Given the description of an element on the screen output the (x, y) to click on. 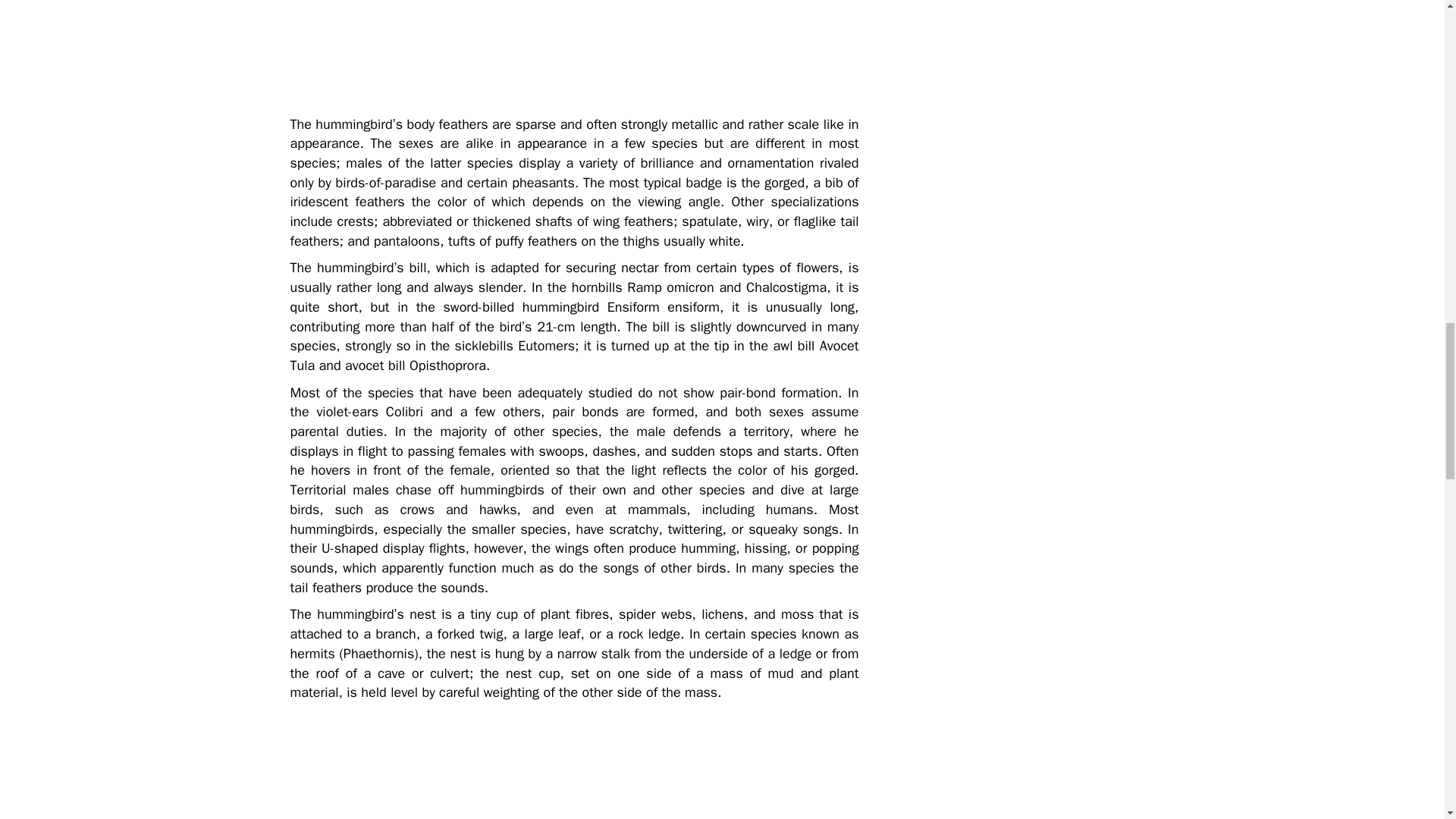
Advertisement (402, 764)
Advertisement (402, 52)
